Given the description of an element on the screen output the (x, y) to click on. 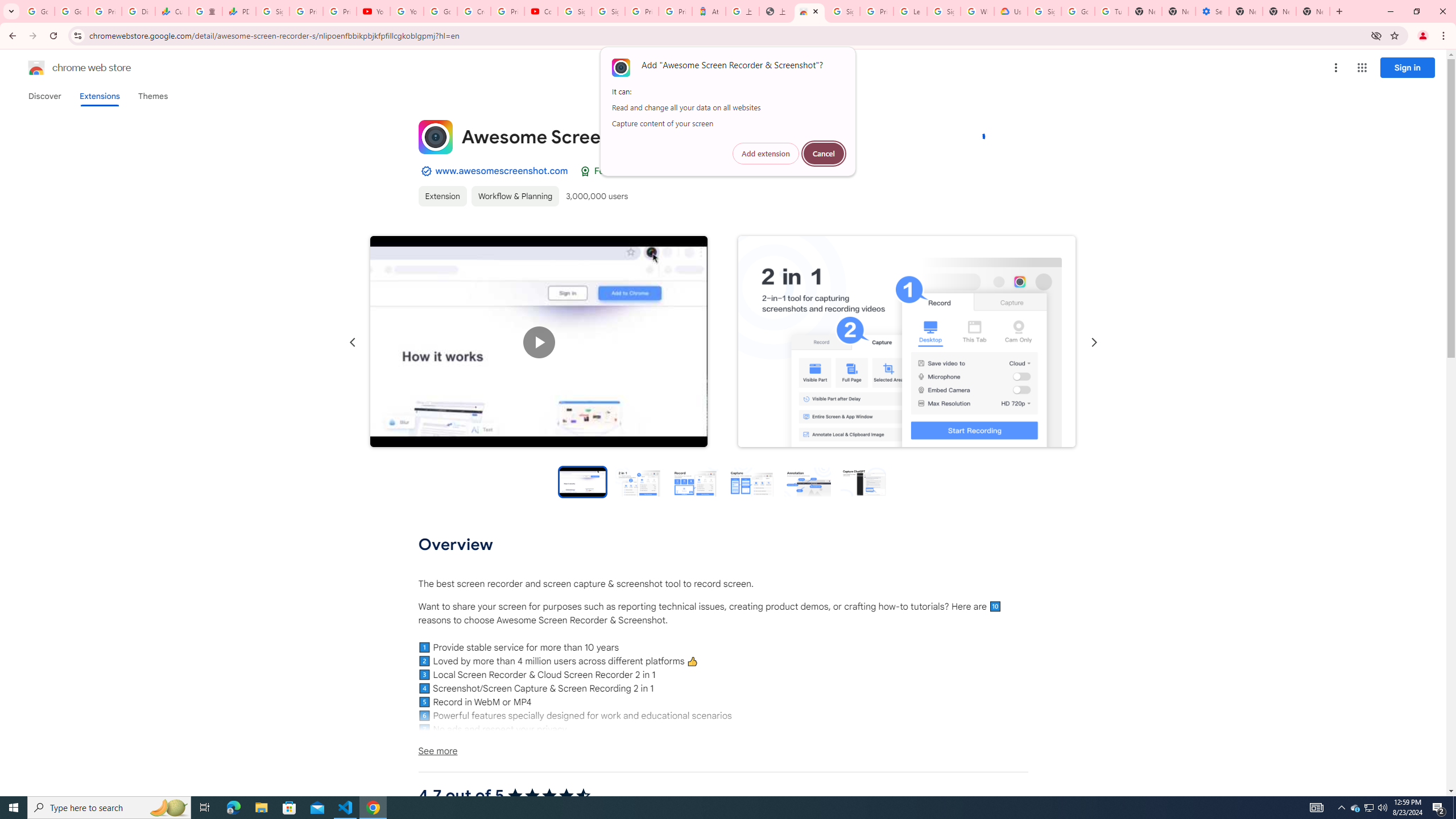
Google Account Help (441, 11)
Preview slide 4 (751, 481)
More options menu (1335, 67)
File Explorer (261, 807)
Google Workspace Admin Community (37, 11)
www.awesomescreenshot.com (501, 170)
User Promoted Notification Area (1368, 807)
Sign in - Google Accounts (608, 11)
YouTube (372, 11)
Preview slide 3 (694, 481)
